Given the description of an element on the screen output the (x, y) to click on. 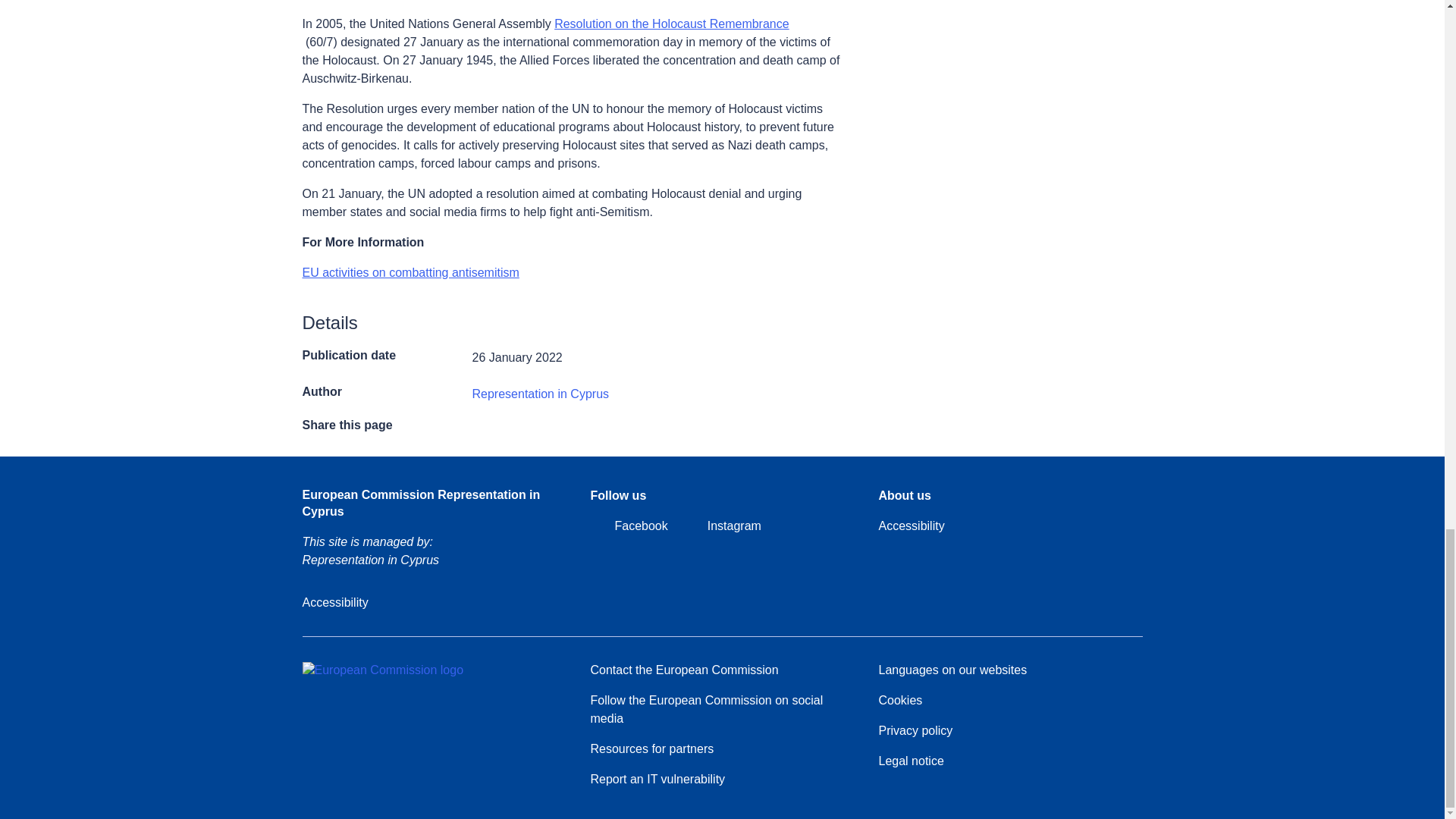
European Commission (382, 669)
